Given the description of an element on the screen output the (x, y) to click on. 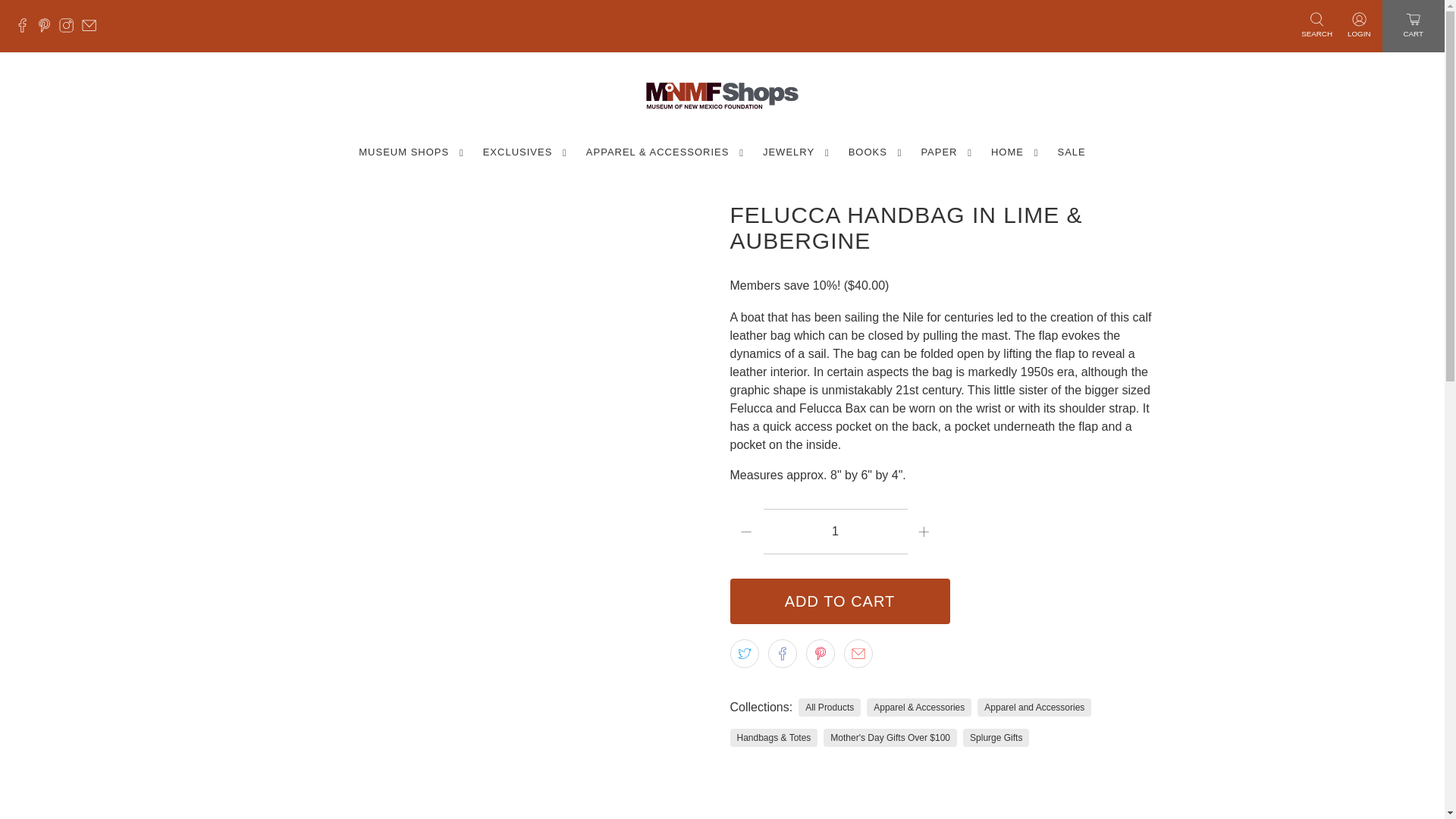
LOGIN (1358, 26)
Email this to a friend (857, 653)
Email Museum of New Mexico Foundation Shops (92, 28)
Share this on Facebook (781, 653)
BOOKS (876, 151)
Museum of New Mexico Foundation Shops (722, 96)
Museum of New Mexico Foundation Shops on Pinterest (48, 28)
PAPER (946, 151)
Share this on Pinterest (819, 653)
EXCLUSIVES (525, 151)
MUSEUM SHOPS (411, 151)
1 (834, 531)
JEWELRY (797, 151)
All Products (829, 707)
Museum of New Mexico Foundation Shops on Facebook (25, 28)
